Given the description of an element on the screen output the (x, y) to click on. 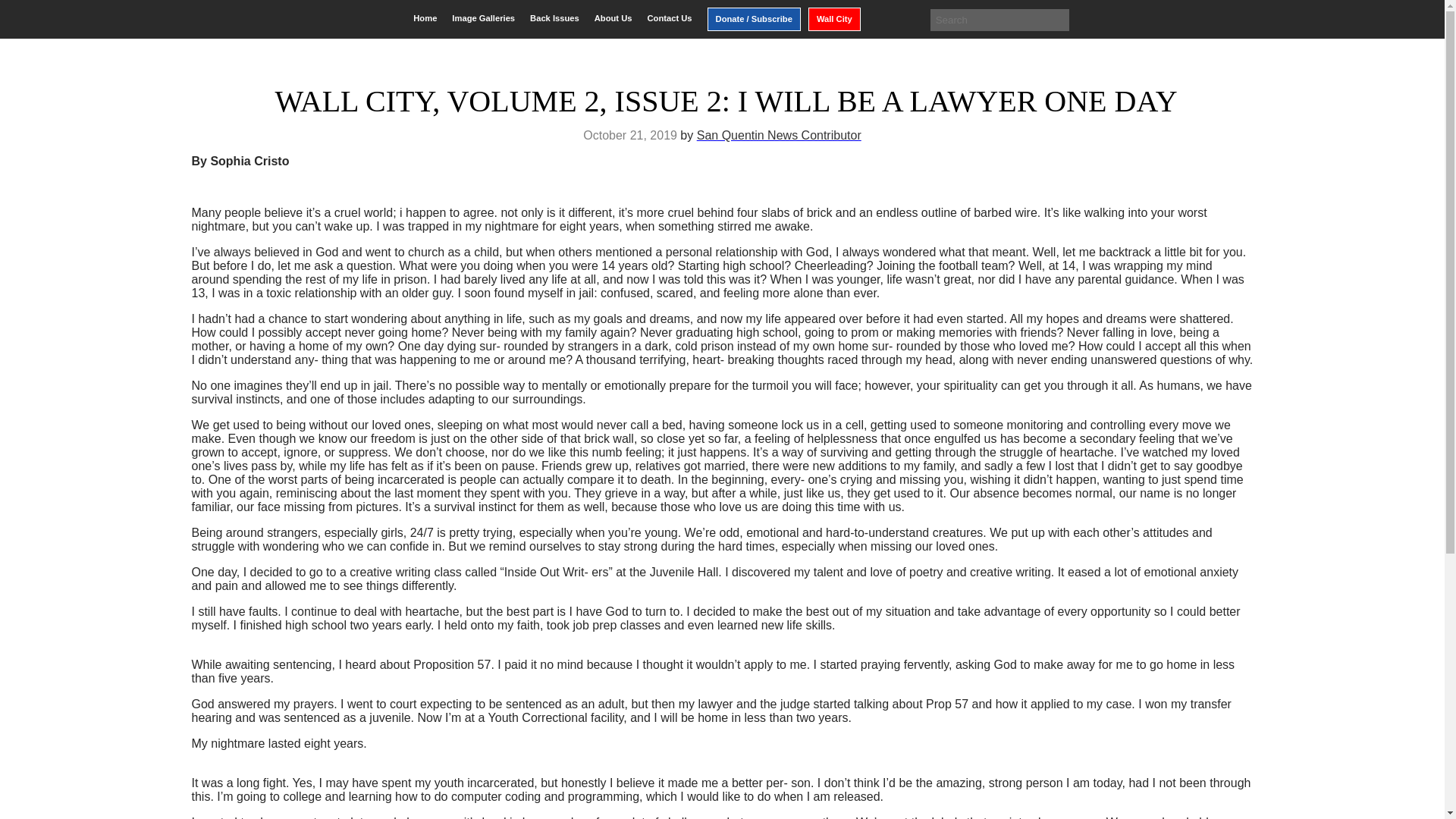
Search (22, 12)
San Quentin News Contributor (779, 134)
Image Galleries (483, 17)
Home (424, 17)
Back Issues (554, 17)
Contact Us (668, 17)
Wall City (833, 18)
About Us (612, 17)
